Given the description of an element on the screen output the (x, y) to click on. 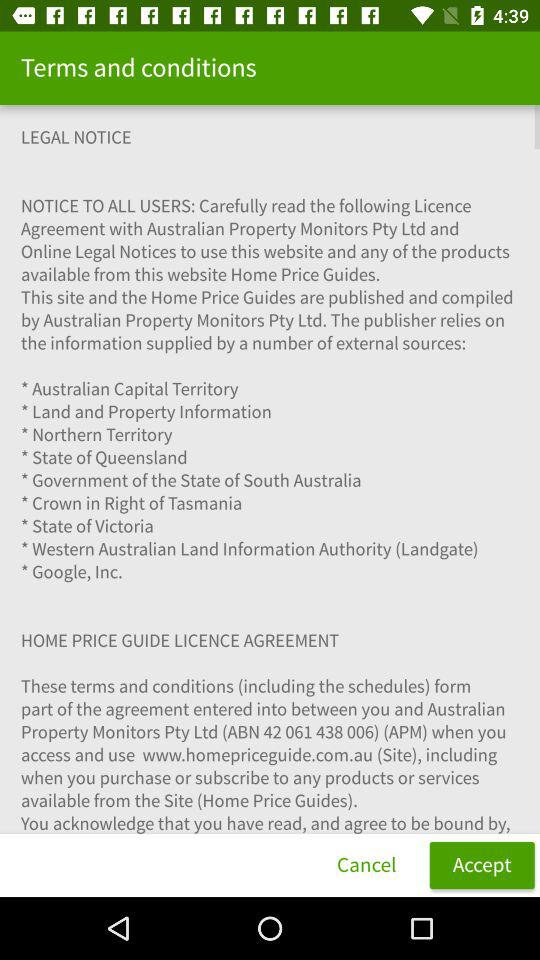
launch item below the legal notice (482, 864)
